Given the description of an element on the screen output the (x, y) to click on. 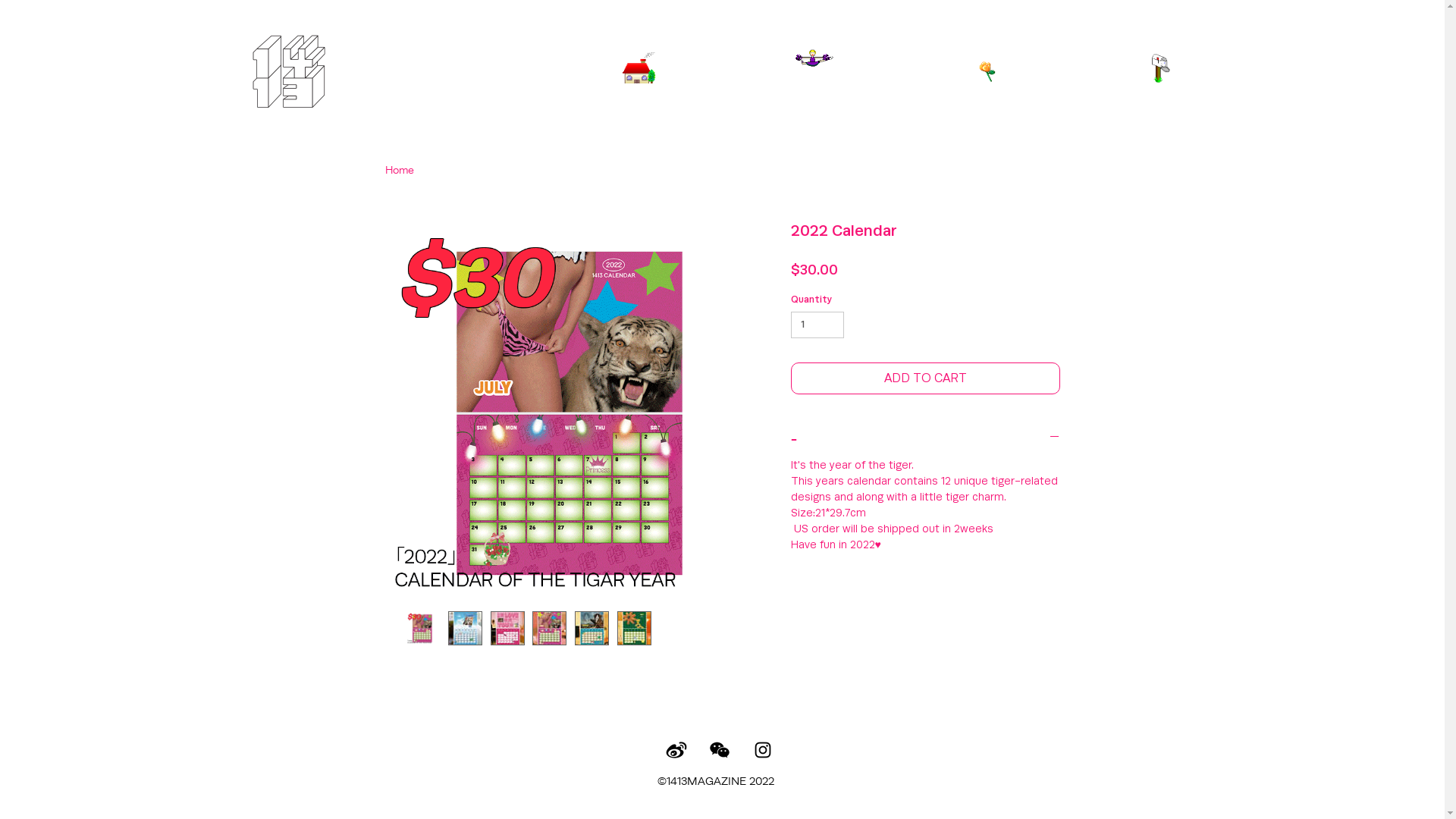
OBJECT Element type: text (814, 91)
SHOP Element type: text (990, 91)
INFO Element type: text (1159, 91)
HOME Element type: text (637, 91)
IMAG0013.gif Element type: hover (638, 67)
_ Element type: text (924, 437)
Home Element type: text (399, 169)
ADD TO CART Element type: text (924, 378)
